Given the description of an element on the screen output the (x, y) to click on. 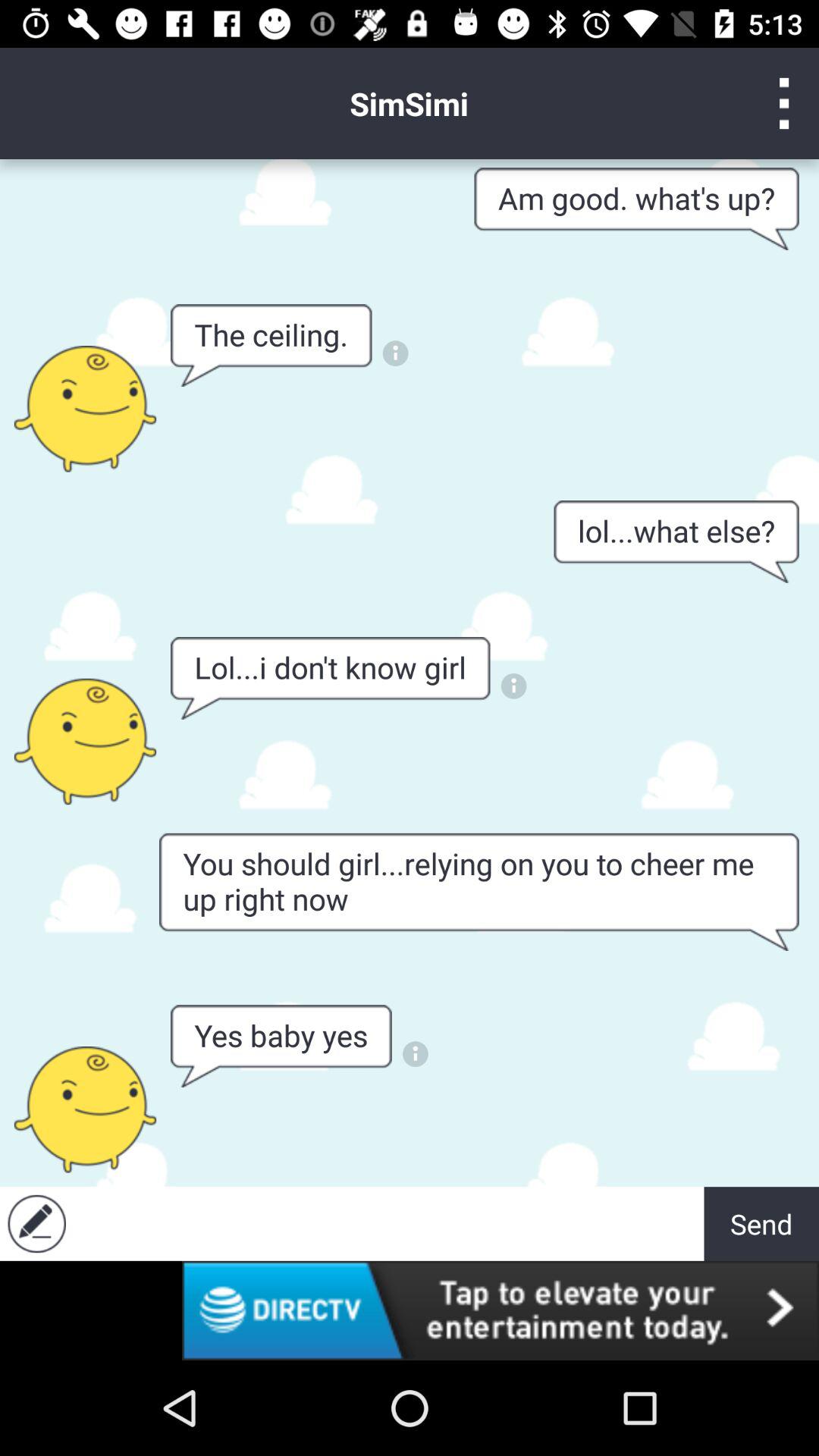
for setting (784, 103)
